Given the description of an element on the screen output the (x, y) to click on. 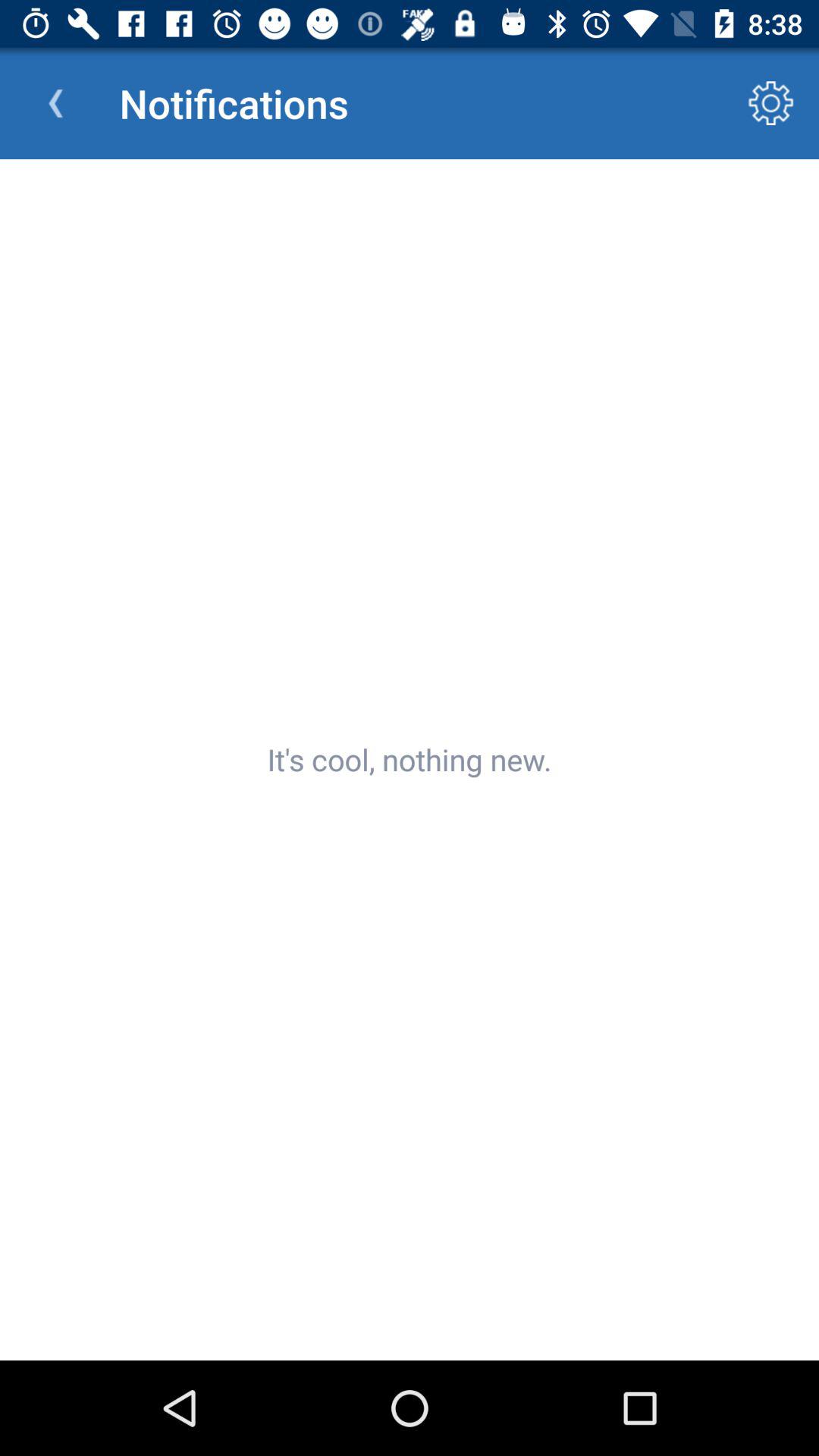
select icon to the right of the notifications app (771, 103)
